Given the description of an element on the screen output the (x, y) to click on. 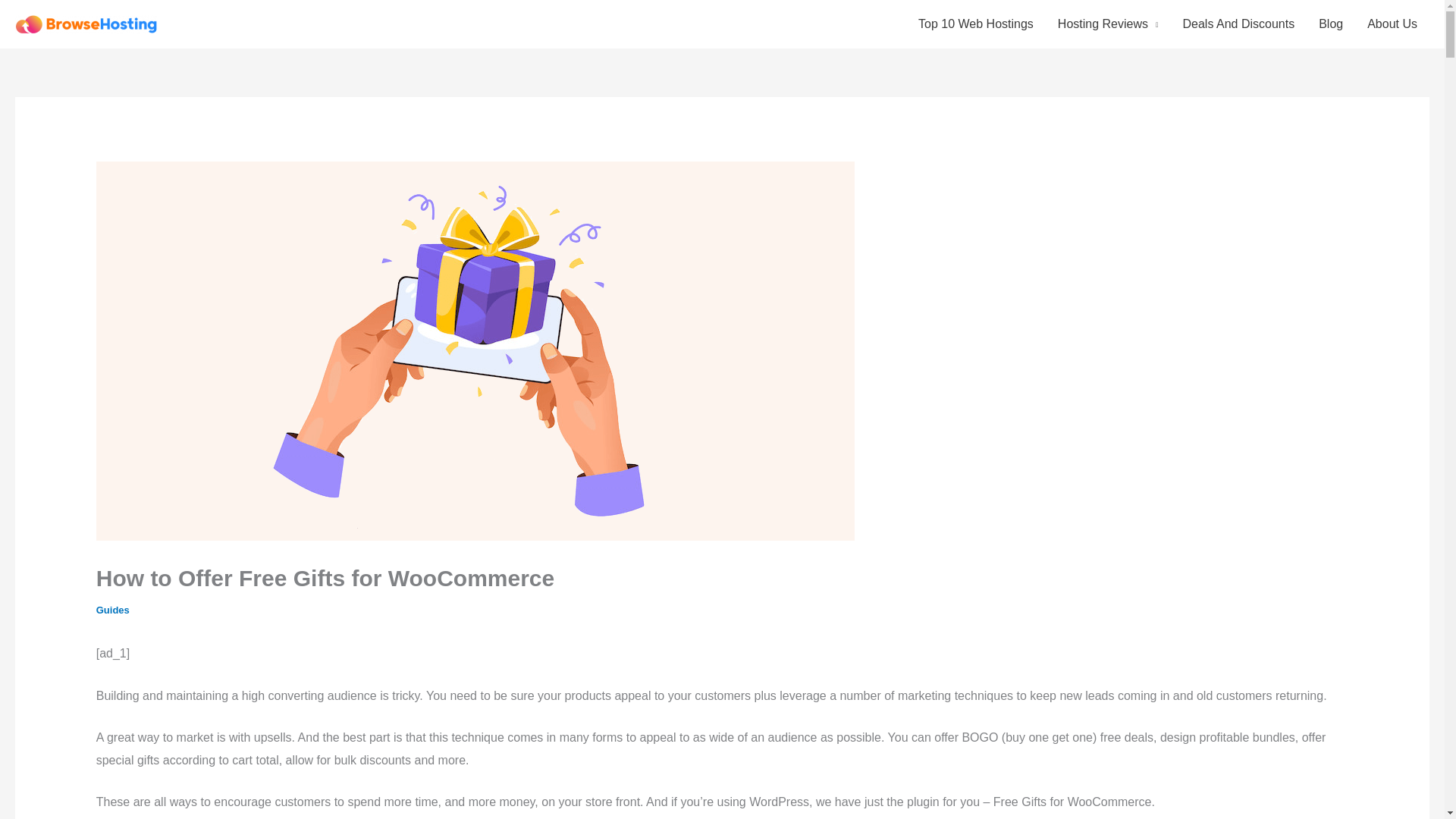
Deals And Discounts (1238, 24)
Blog (1330, 24)
About Us (1392, 24)
Guides (112, 609)
Hosting Reviews (1107, 24)
Top 10 Web Hostings (975, 24)
